Given the description of an element on the screen output the (x, y) to click on. 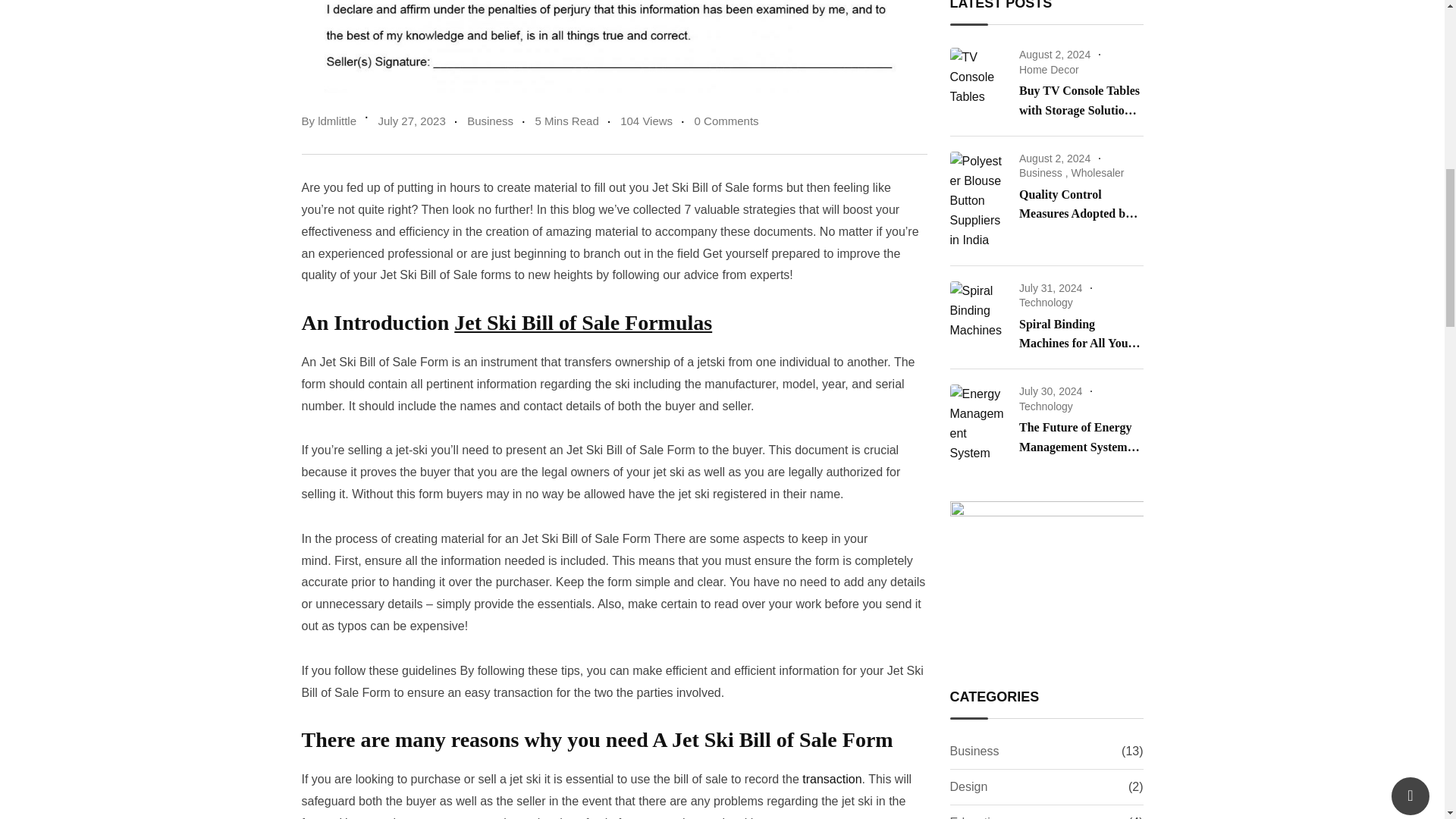
Business (490, 120)
transaction (830, 779)
Jet Ski Bill of Sale Formulas (582, 322)
ldmlittle (336, 120)
